Given the description of an element on the screen output the (x, y) to click on. 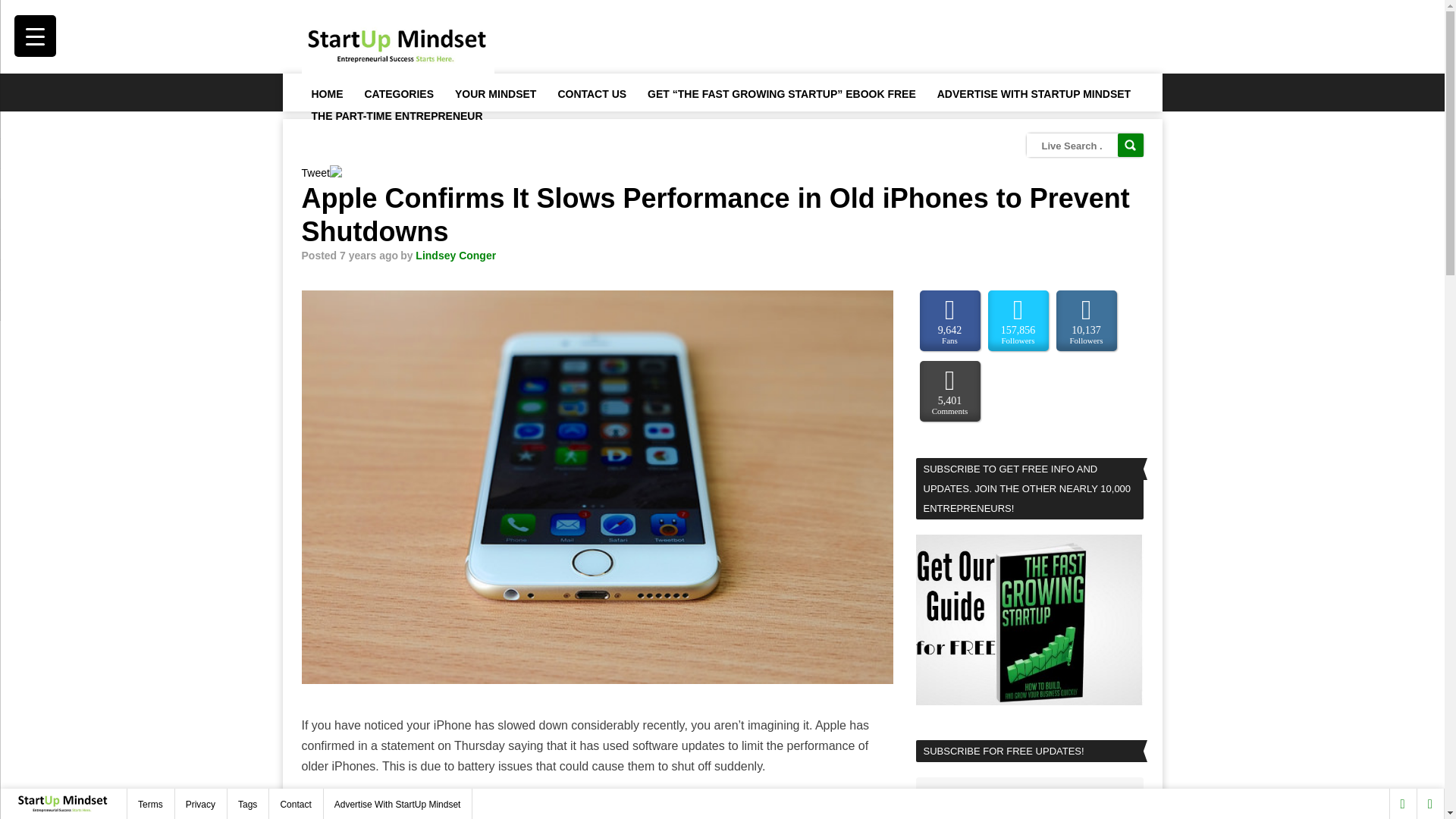
Lindsey Conger (455, 255)
Tweet (315, 173)
CONTACT US (590, 92)
HOME (326, 92)
Search (1130, 145)
THE PART-TIME ENTREPRENEUR (396, 115)
ADVERTISE WITH STARTUP MINDSET (1033, 92)
Search (1130, 145)
YOUR MINDSET (494, 92)
reports (470, 801)
Posts by Lindsey Conger (455, 255)
CATEGORIES (399, 92)
Take Action Now! (293, 15)
